Given the description of an element on the screen output the (x, y) to click on. 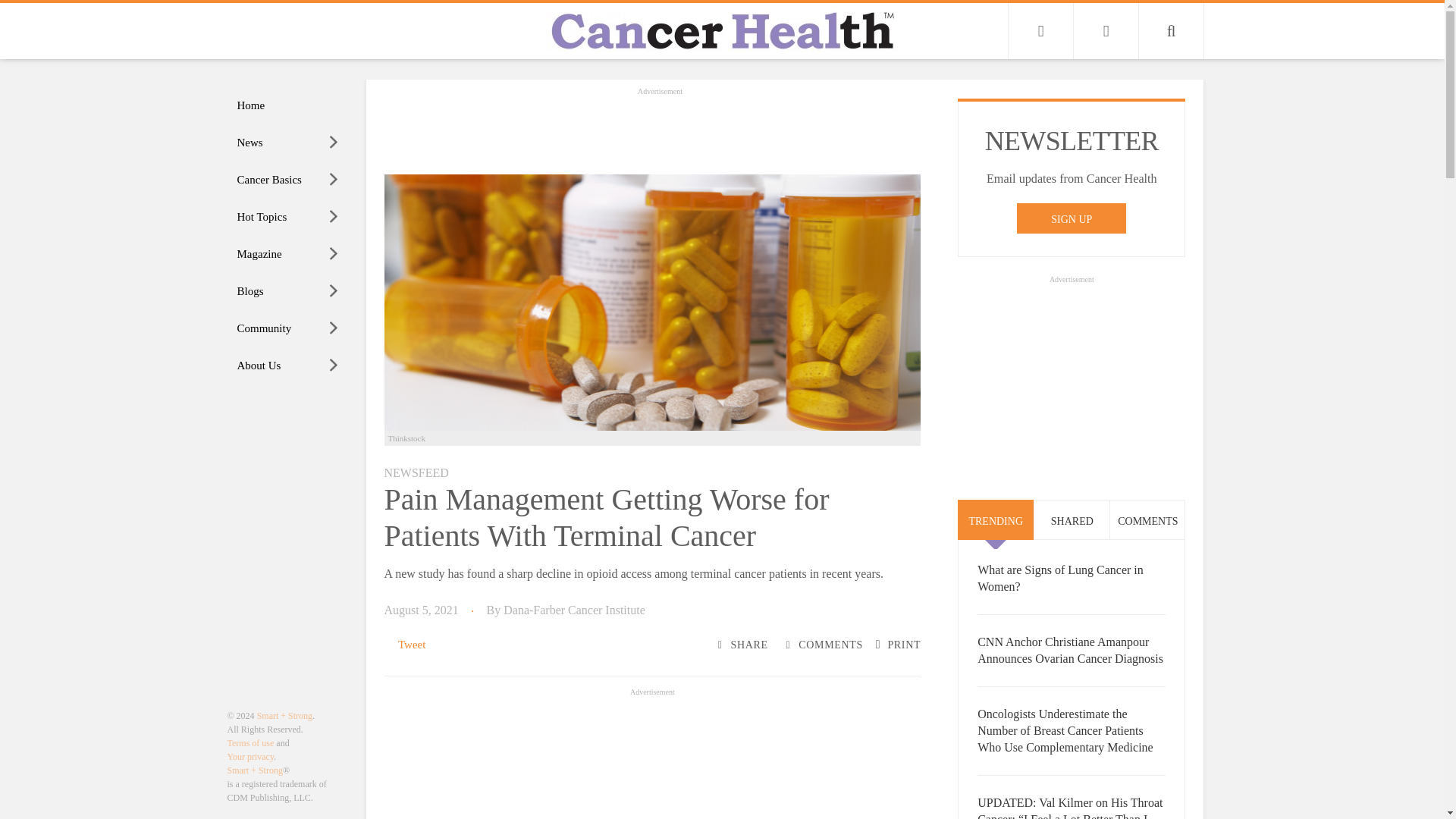
3rd party ad content (1071, 381)
Hot Topics (288, 217)
3rd party ad content (651, 759)
Cancer Basics (288, 180)
Home (288, 105)
News (288, 142)
3rd party ad content (660, 132)
